Given the description of an element on the screen output the (x, y) to click on. 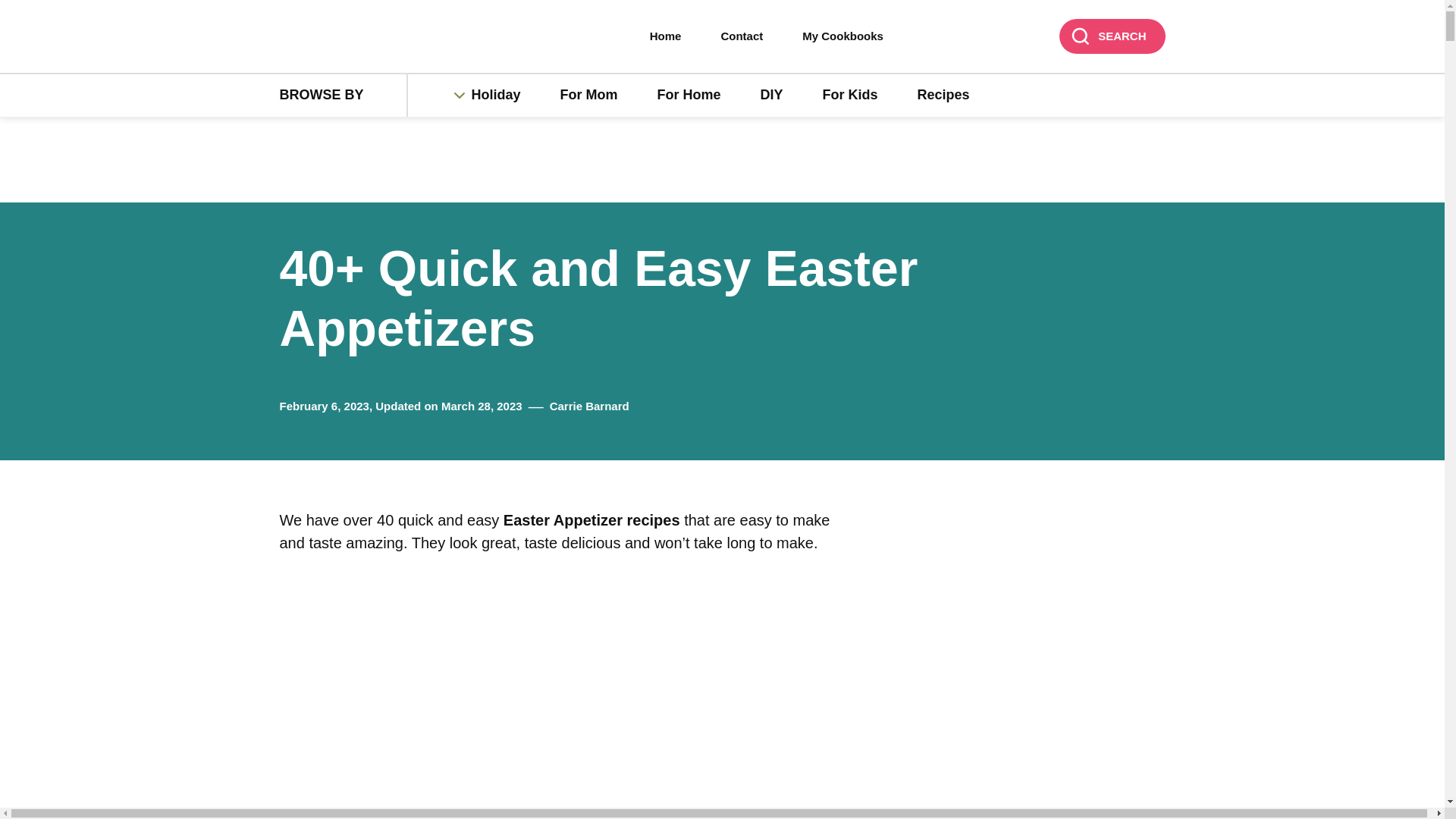
BROWSE BY (342, 95)
DIY (772, 95)
For Mom (588, 95)
SEARCH (1111, 36)
Home (665, 36)
Carrie Barnard (589, 405)
Contact (741, 36)
Holiday (504, 95)
My Cookbooks (842, 36)
Recipes (944, 95)
For Home (689, 95)
For Kids (850, 95)
One Crazy Mom (376, 37)
